Given the description of an element on the screen output the (x, y) to click on. 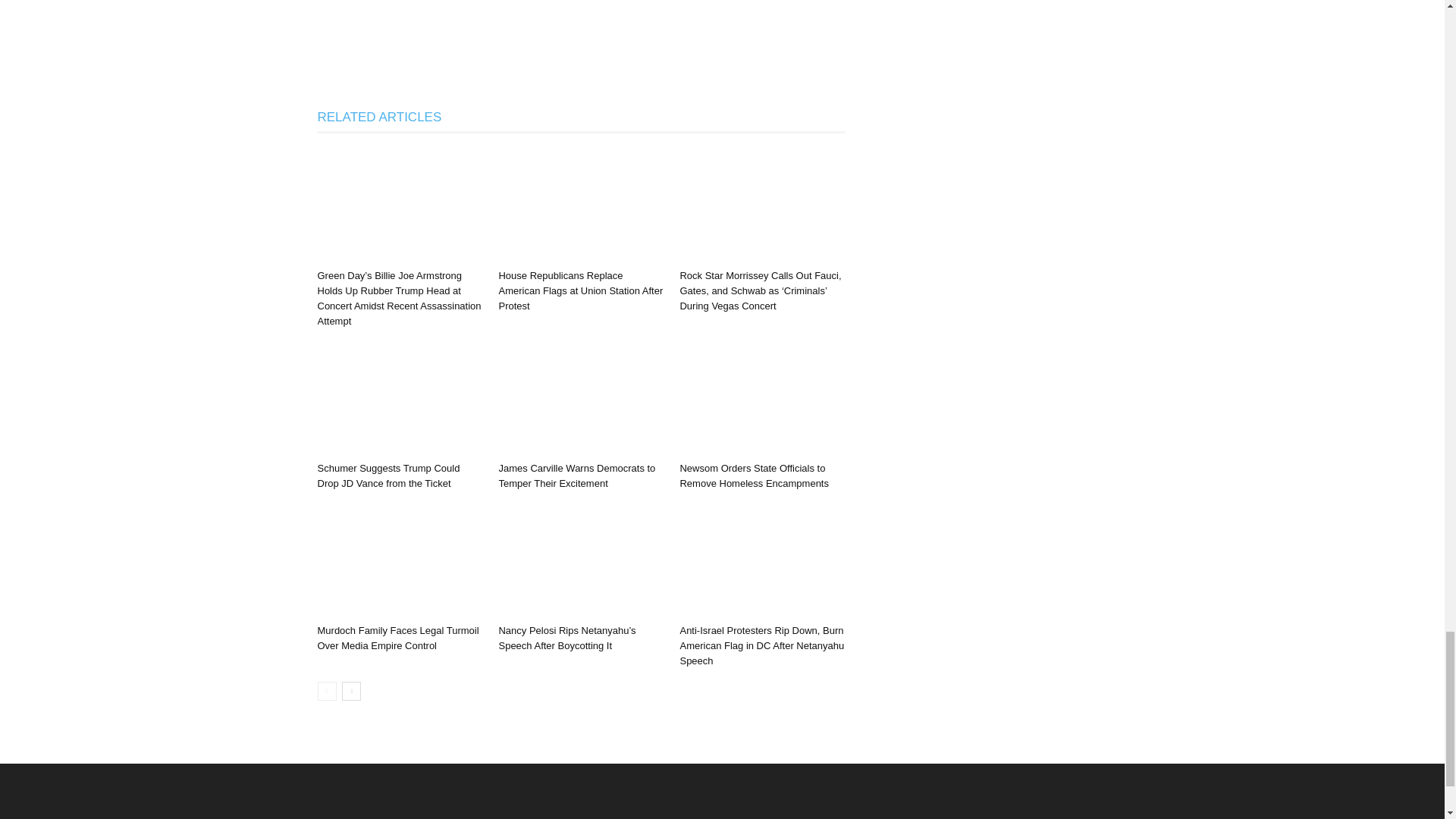
Schumer Suggests Trump Could Drop JD Vance from the Ticket (399, 398)
James Carville Warns Democrats to Temper Their Excitement (576, 475)
James Carville Warns Democrats to Temper Their Excitement (580, 398)
Schumer Suggests Trump Could Drop JD Vance from the Ticket (388, 475)
Murdoch Family Faces Legal Turmoil Over Media Empire Control (398, 637)
Schumer Suggests Trump Could Drop JD Vance from the Ticket (388, 475)
James Carville Warns Democrats to Temper Their Excitement (576, 475)
RELATED ARTICLES (379, 117)
Newsom Orders State Officials to Remove Homeless Encampments (753, 475)
